Given the description of an element on the screen output the (x, y) to click on. 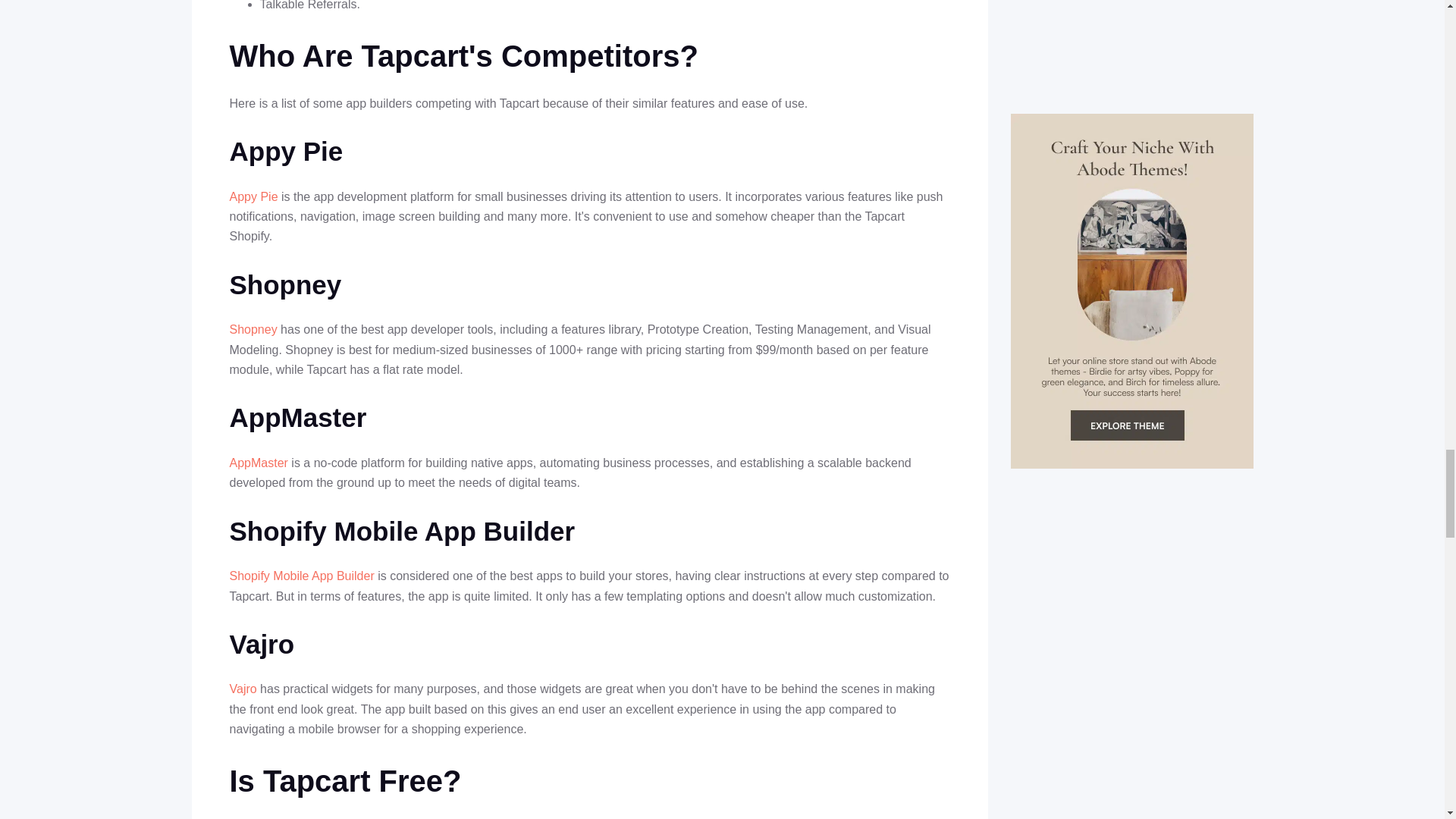
Vajro (242, 688)
Shopify Mobile App Builder (301, 575)
AppMaster (257, 462)
Appy Pie (253, 196)
Shopney (252, 328)
